Given the description of an element on the screen output the (x, y) to click on. 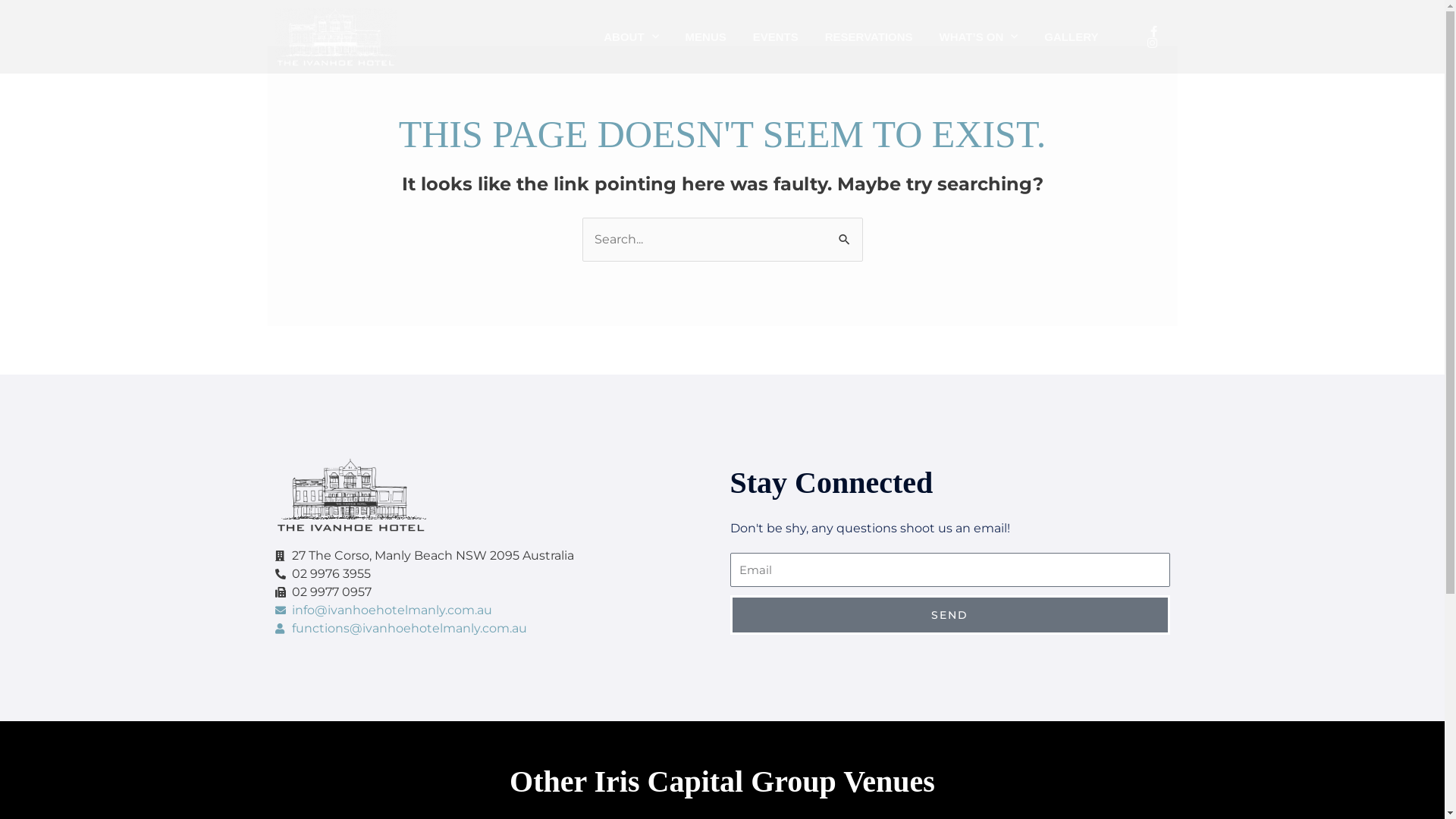
info@ivanhoehotelmanly.com.au Element type: text (494, 610)
MENUS Element type: text (705, 37)
SEND Element type: text (949, 614)
functions@ivanhoehotelmanly.com.au Element type: text (494, 628)
ABOUT Element type: text (630, 37)
Search Element type: text (845, 232)
RESERVATIONS Element type: text (869, 37)
GALLERY Element type: text (1071, 37)
EVENTS Element type: text (775, 37)
